Given the description of an element on the screen output the (x, y) to click on. 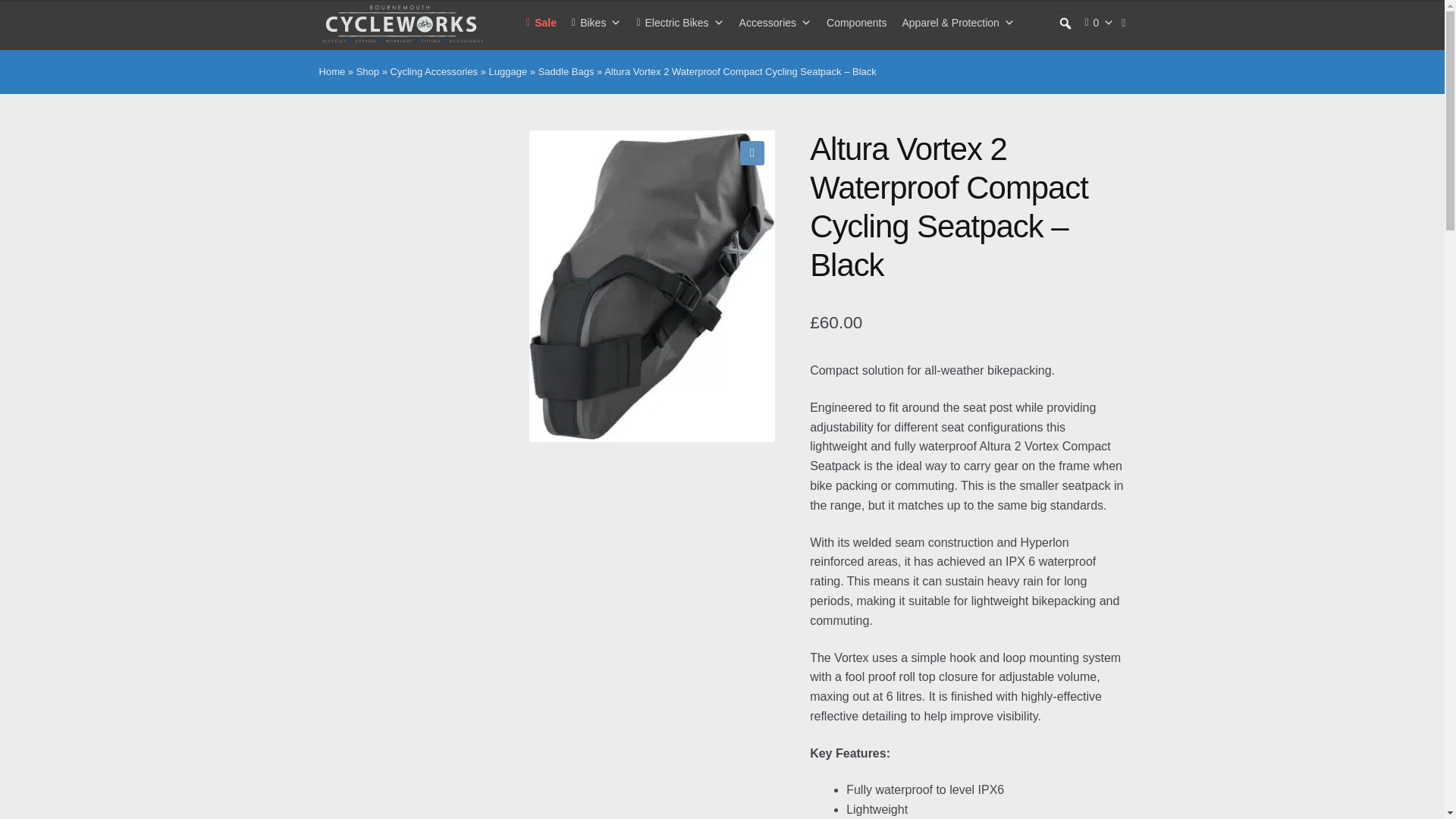
Cycling Accessories (775, 22)
Bikes (596, 22)
Sale (541, 22)
Bikes (596, 22)
Products On Sale (541, 22)
